Given the description of an element on the screen output the (x, y) to click on. 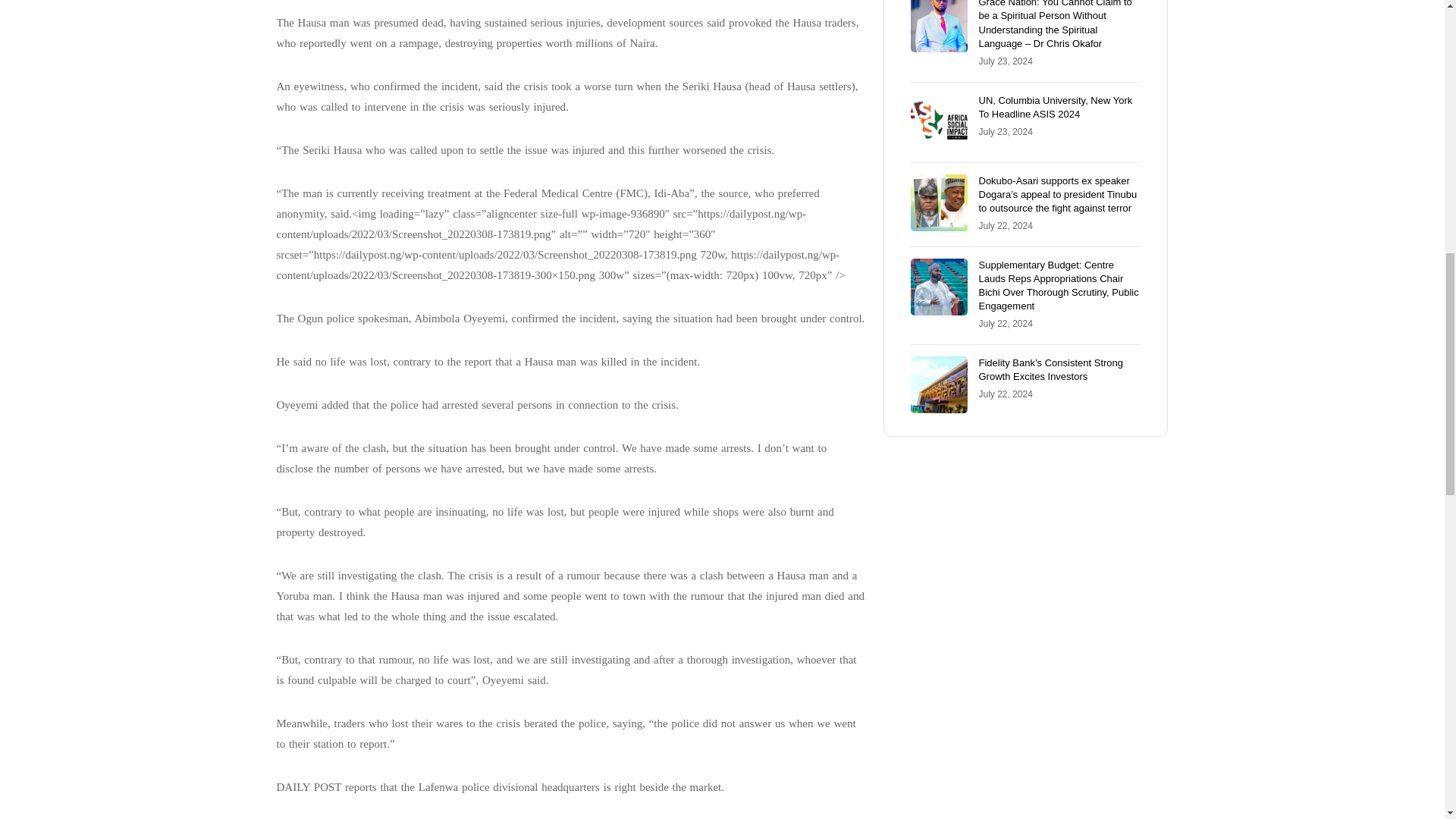
6:22 am (1005, 61)
UN, Columbia University, New York To Headline ASIS 2024 (1055, 107)
July 23, 2024 (1005, 61)
